Given the description of an element on the screen output the (x, y) to click on. 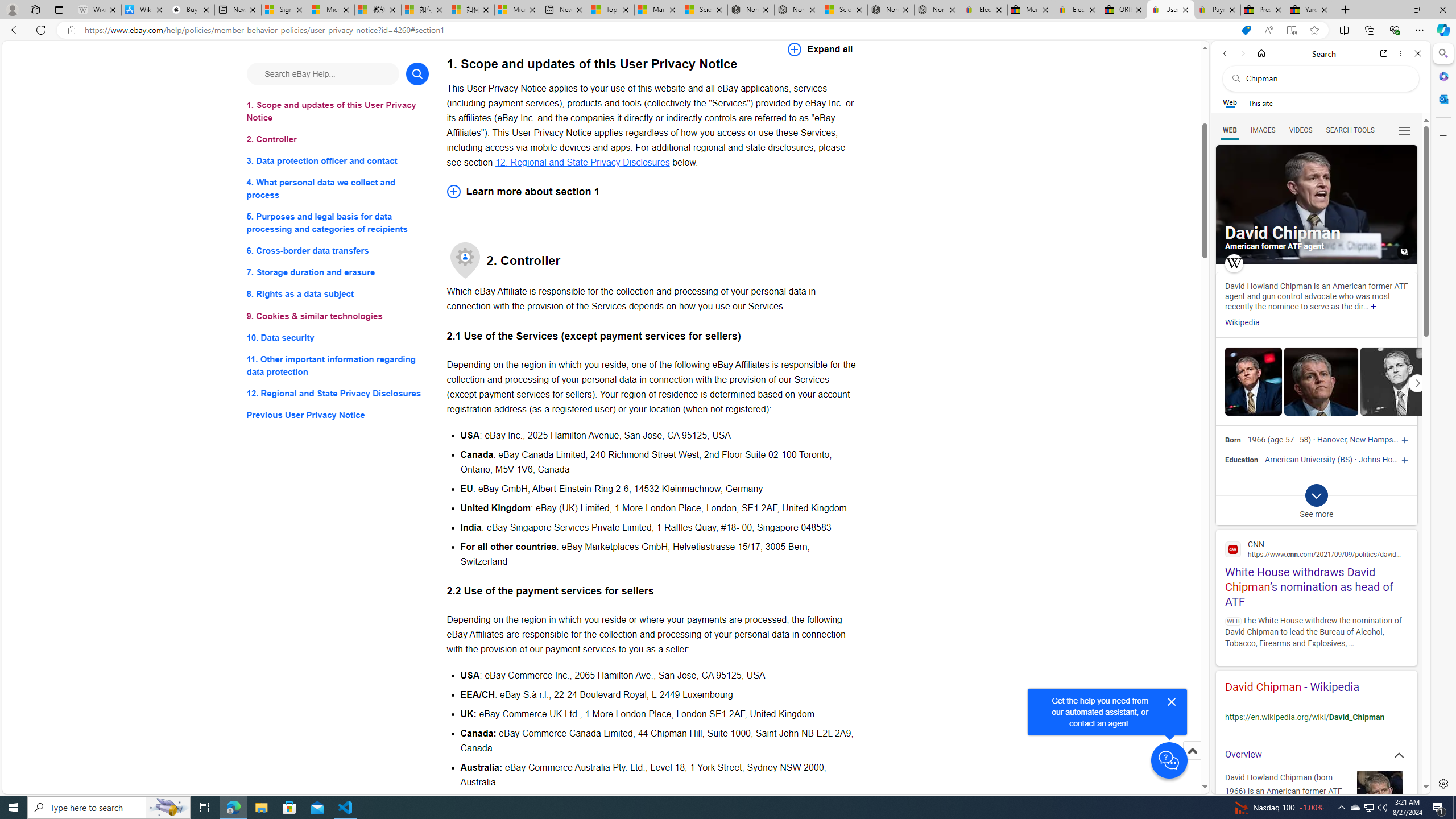
10. Data security (337, 336)
This site has coupons! Shopping in Microsoft Edge (1245, 29)
User Privacy Notice | eBay (1170, 9)
View details (1396, 382)
Preferences (1403, 129)
4. What personal data we collect and process (337, 189)
Yard, Garden & Outdoor Living (1309, 9)
